Given the description of an element on the screen output the (x, y) to click on. 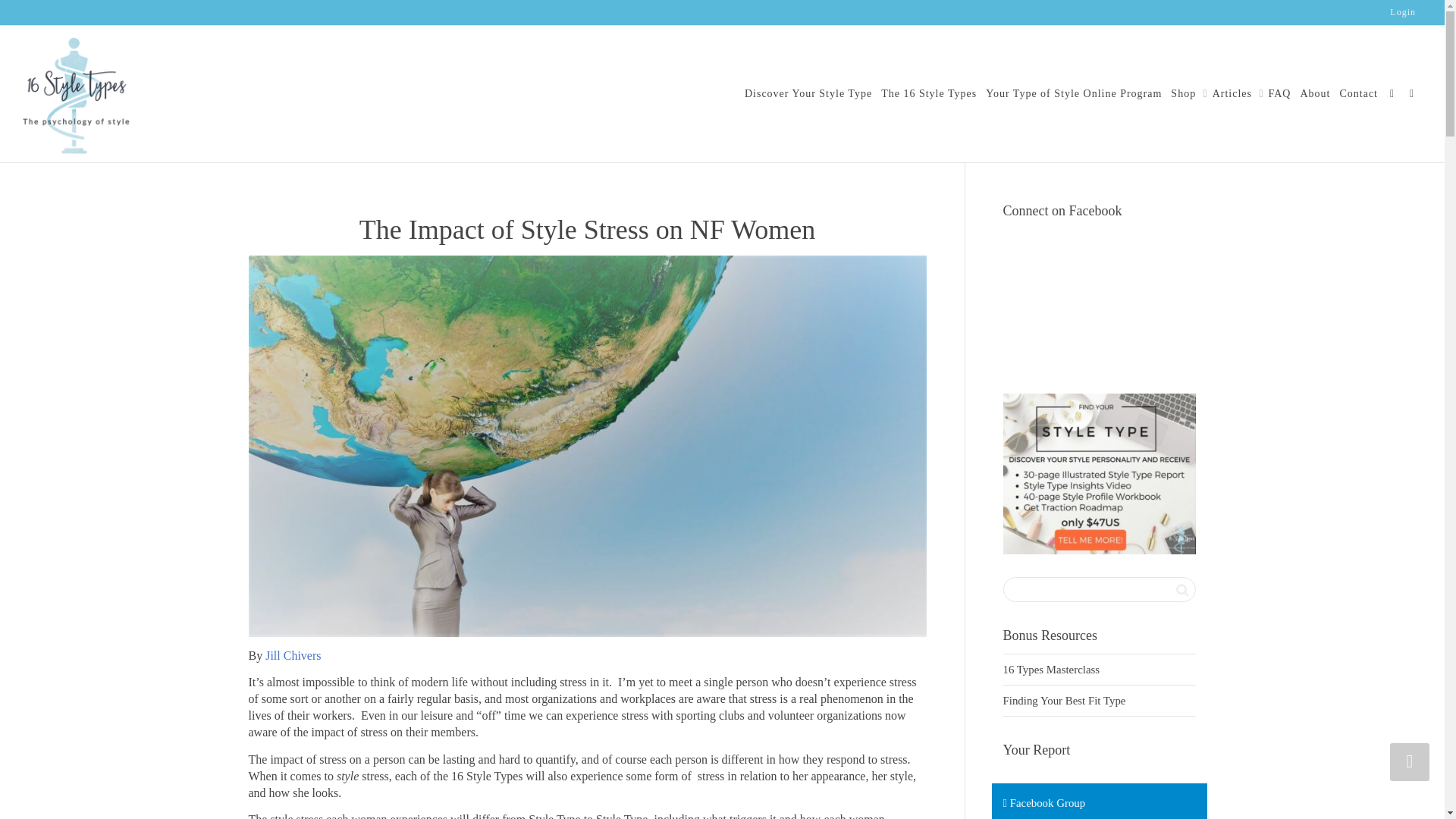
Search (1181, 589)
Discover Your Style Type (808, 93)
Search (1181, 589)
Login (1403, 12)
Login (1403, 12)
Discover Your Style Type (808, 93)
Your Type of Style Online Program (1073, 93)
Your Type of Style Online Program (1073, 93)
